Given the description of an element on the screen output the (x, y) to click on. 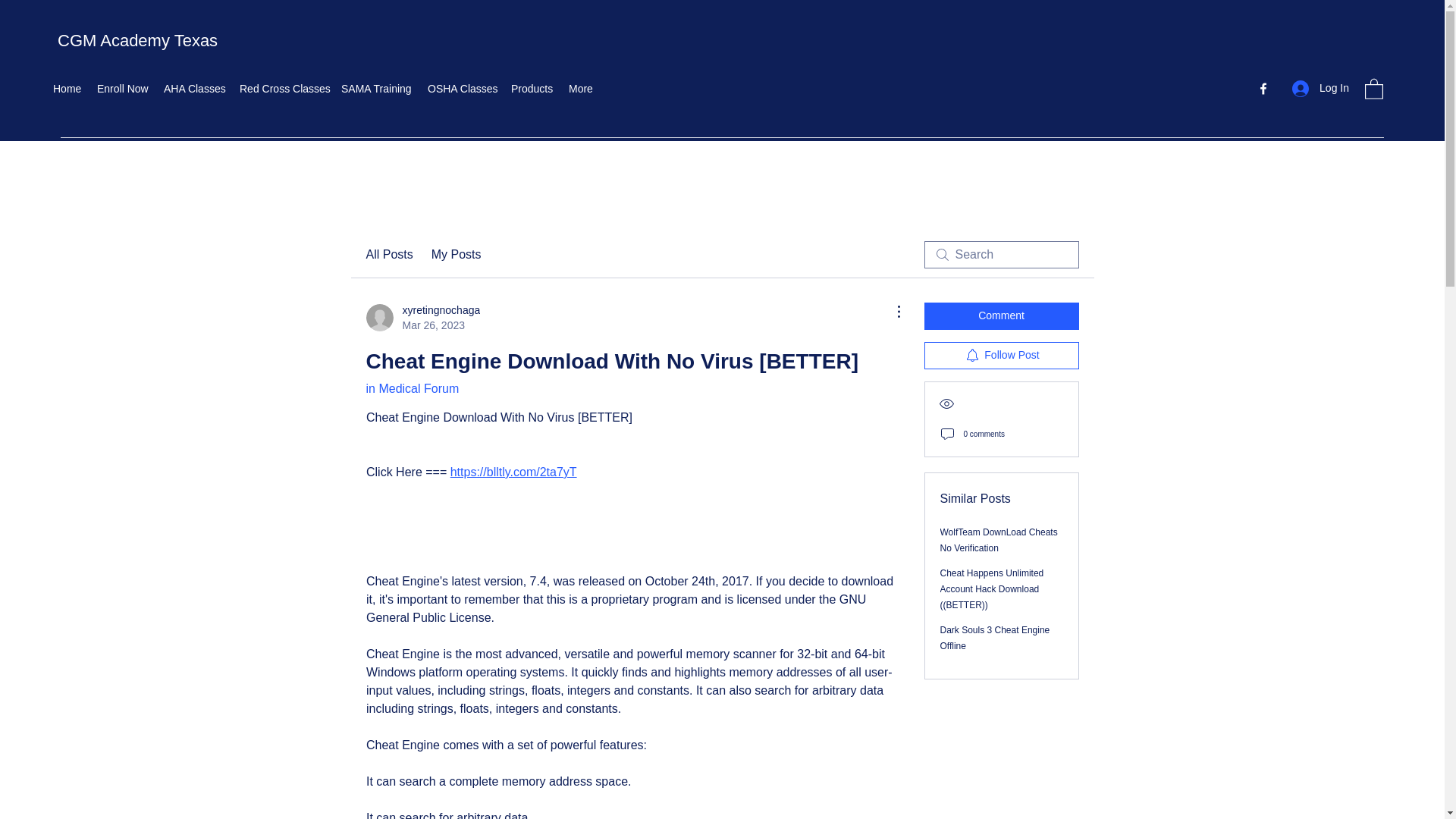
Log In (1320, 88)
My Posts (455, 254)
SAMA Training (422, 317)
Comment (376, 87)
WolfTeam DownLoad Cheats No Verification (1000, 316)
Products (999, 540)
Follow Post (531, 87)
OSHA Classes (1000, 355)
in Medical Forum (461, 87)
CGM Academy Texas (411, 388)
All Posts (137, 40)
Enroll Now (388, 254)
Red Cross Classes (121, 87)
Dark Souls 3 Cheat Engine Offline (282, 87)
